Given the description of an element on the screen output the (x, y) to click on. 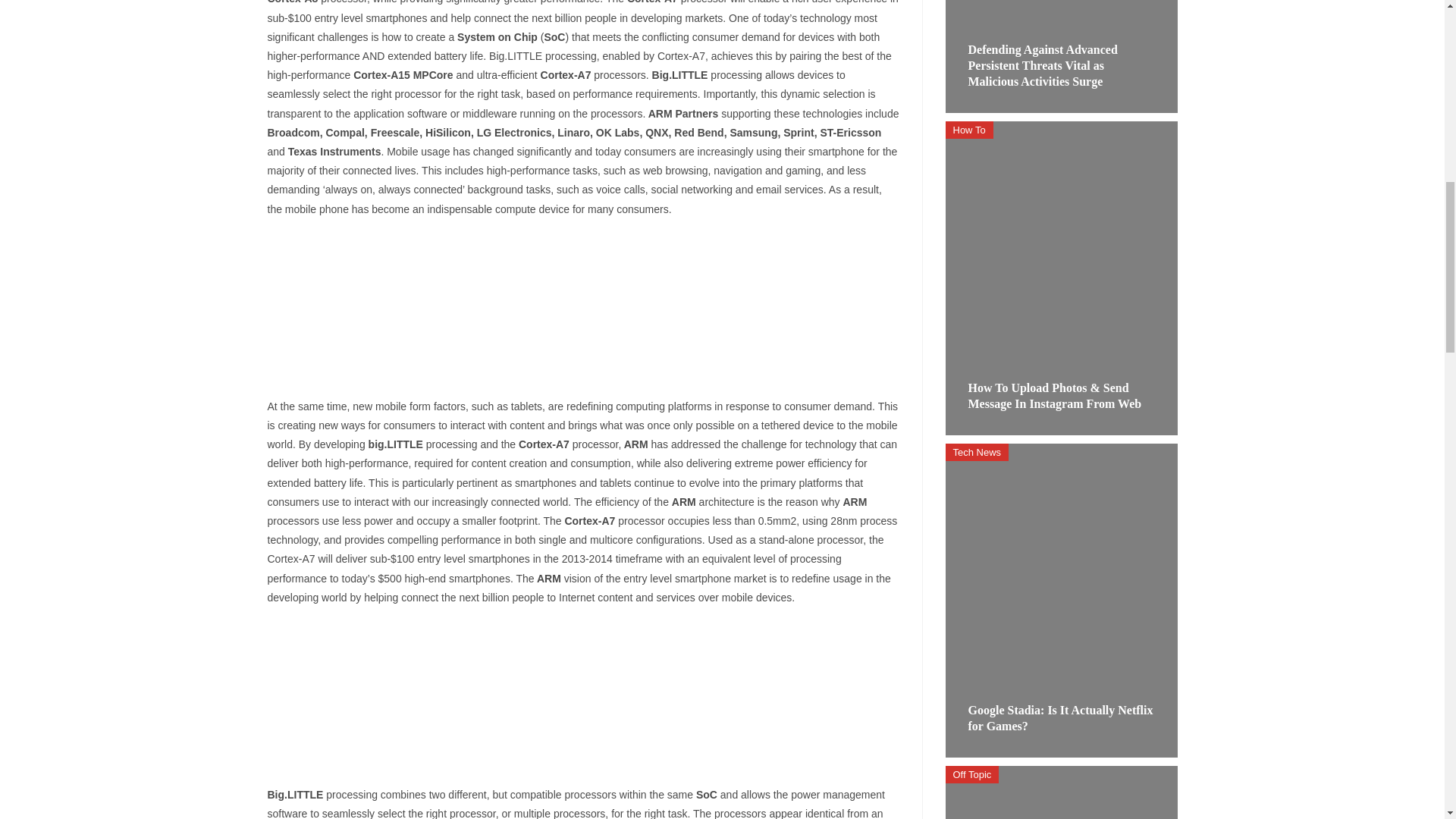
Tech News (976, 452)
Off Topic (971, 773)
How To (968, 129)
Google Stadia: Is It Actually Netflix for Games? (1060, 717)
